Given the description of an element on the screen output the (x, y) to click on. 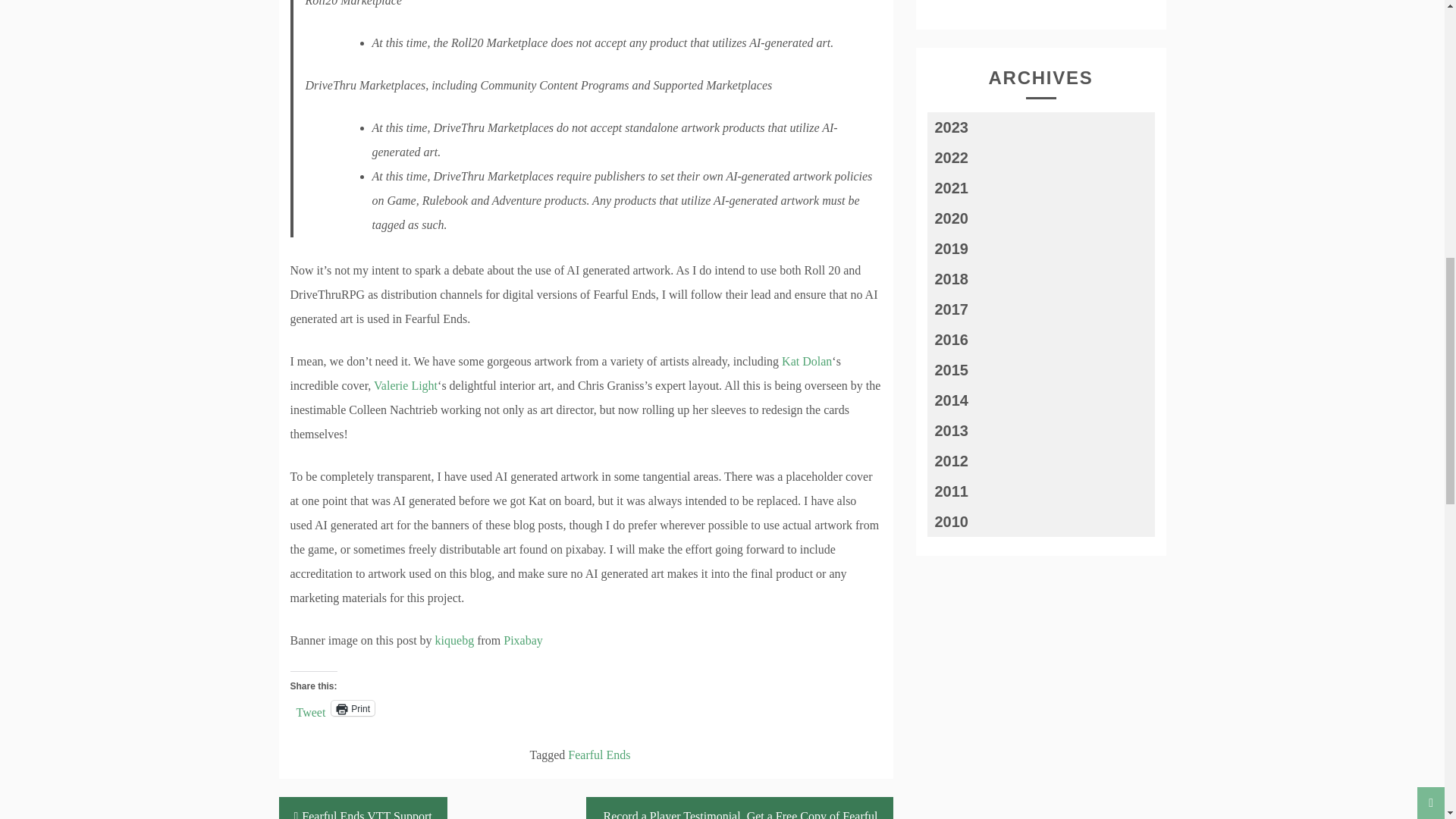
kiquebg (454, 640)
Click to print (352, 708)
Print (352, 708)
Kat Dolan (806, 360)
Fearful Ends (598, 754)
Pixabay (523, 640)
Record a Player Testimonial, Get a Free Copy of Fearful Ends (738, 807)
Valerie Light (406, 385)
Fearful Ends VTT Support (362, 807)
Tweet (309, 707)
